Given the description of an element on the screen output the (x, y) to click on. 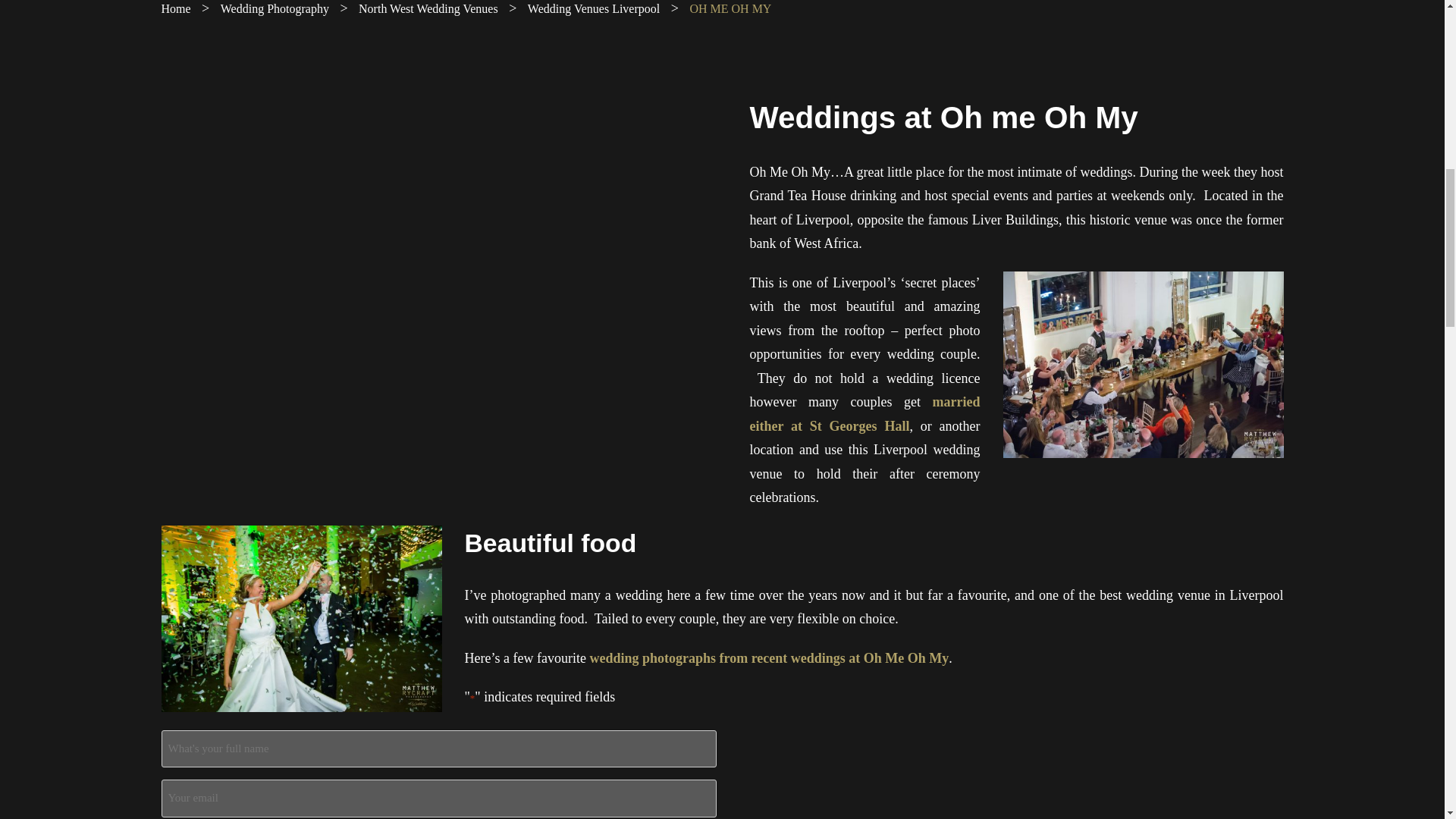
Go to North West Wedding Venues. (427, 8)
Go to Matthew Rycraft Photography. (175, 8)
Go to Wedding Photography. (275, 8)
Go to Wedding Venues Liverpool. (593, 8)
